Given the description of an element on the screen output the (x, y) to click on. 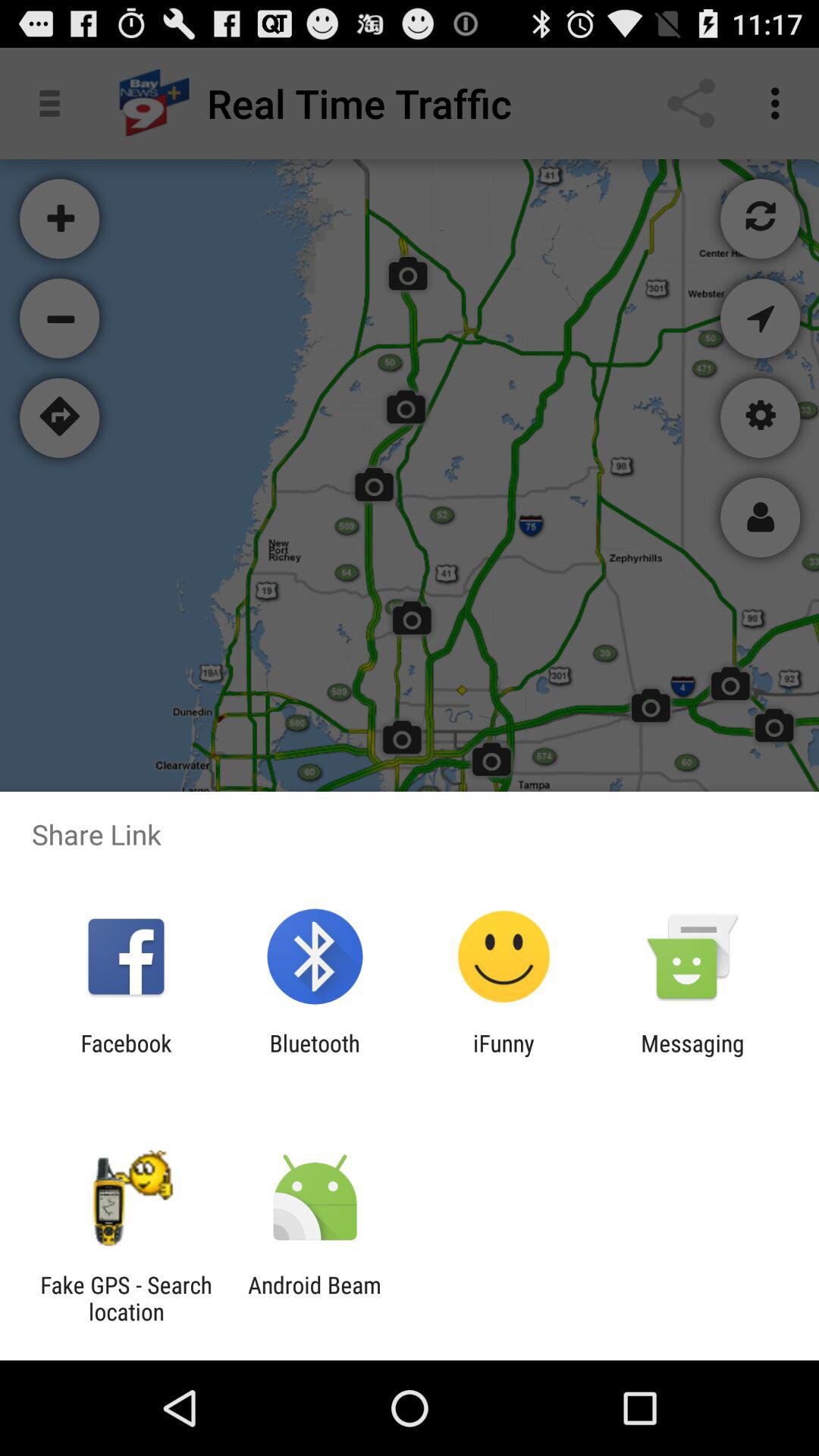
turn off the app to the right of the bluetooth item (503, 1056)
